Given the description of an element on the screen output the (x, y) to click on. 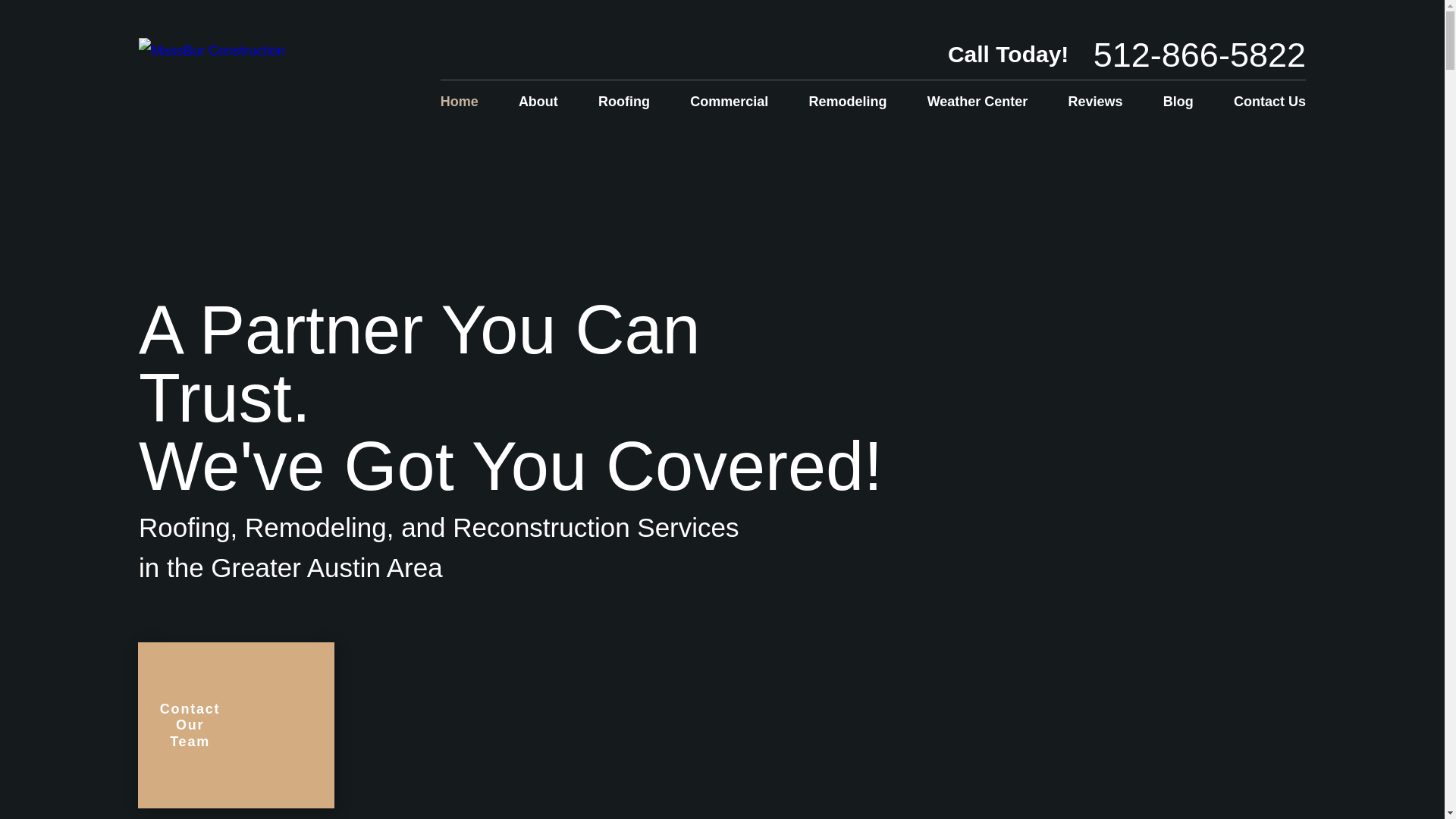
Home (468, 102)
512-866-5822 (1199, 54)
Remodeling (847, 102)
Open the accessibility options menu (1423, 798)
Roofing (623, 102)
Contact Us (1260, 102)
Arrow (311, 725)
Commercial (729, 102)
Weather Center (977, 102)
MassBur Construction (211, 50)
Blog (1178, 102)
About (537, 102)
Reviews (1095, 102)
